Given the description of an element on the screen output the (x, y) to click on. 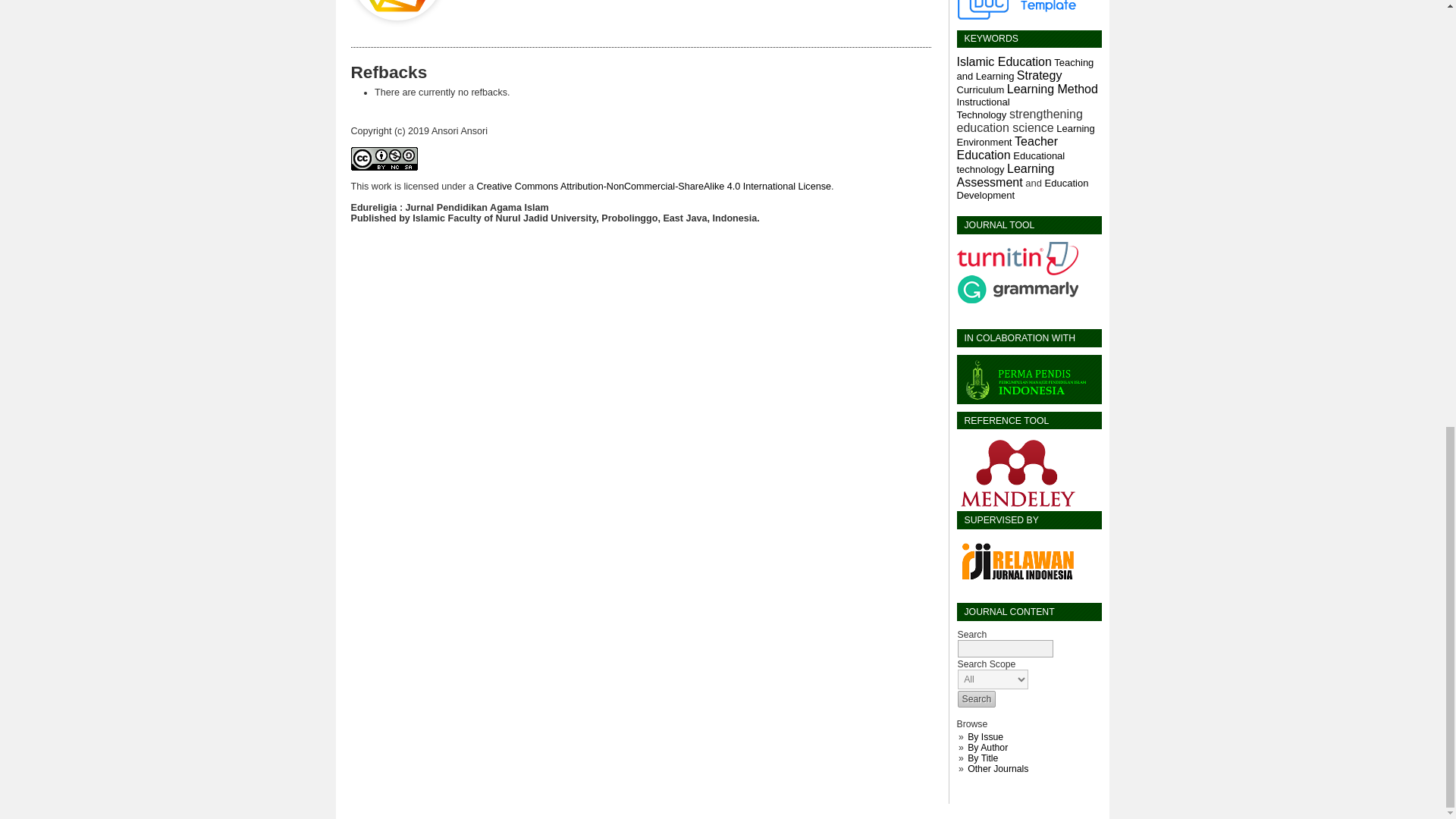
Learning Assessment (1005, 176)
Search (975, 699)
Islamic Education (1003, 62)
Learning Environment (1025, 135)
Strategy (1039, 74)
Learning Method (1052, 88)
Teaching and Learning (1025, 69)
Curriculum (980, 89)
Turnitin (1017, 271)
Teacher Education (1007, 148)
